Given the description of an element on the screen output the (x, y) to click on. 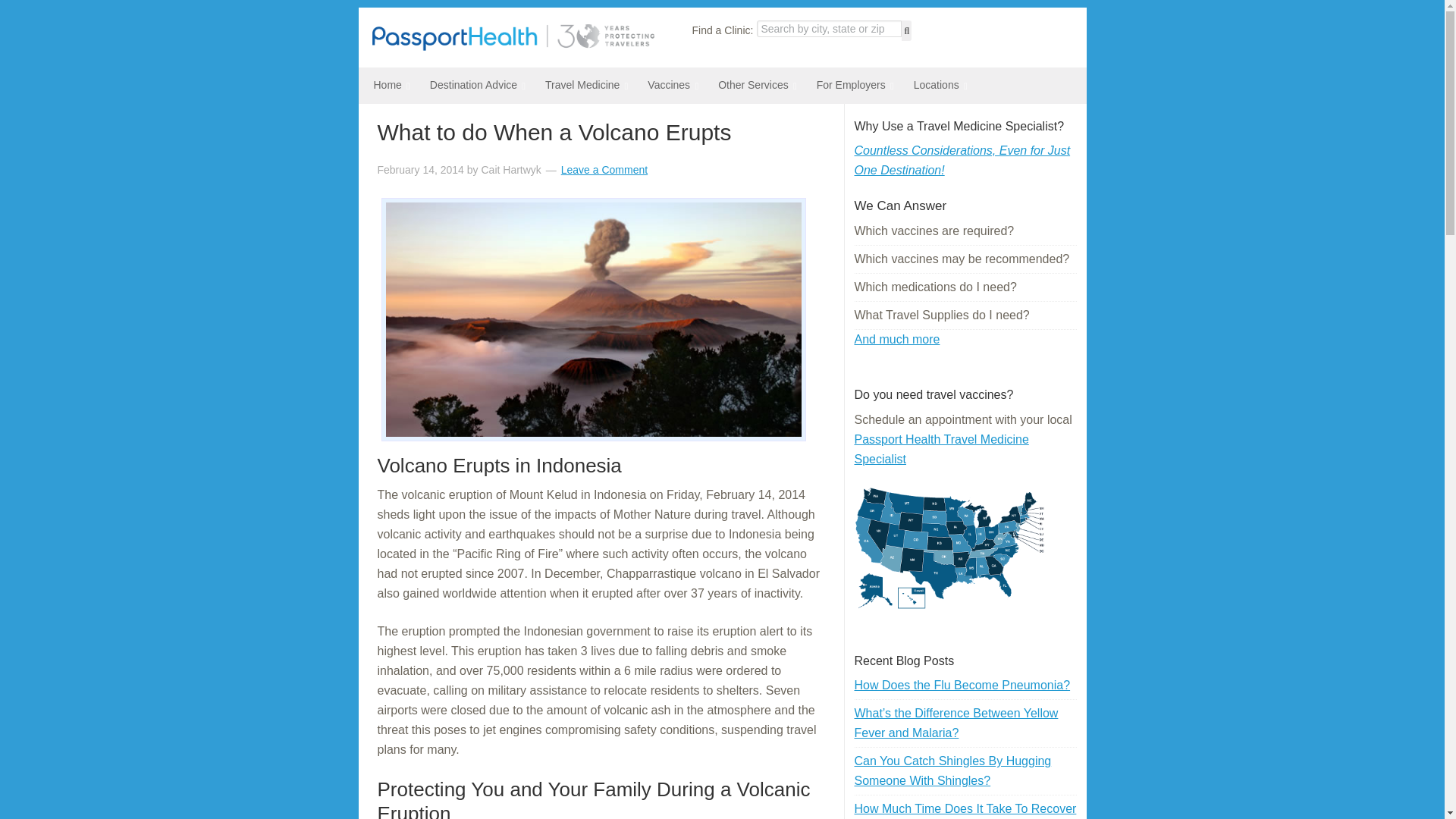
Home (385, 85)
Destination Advice (471, 85)
Passport Health (512, 46)
